Given the description of an element on the screen output the (x, y) to click on. 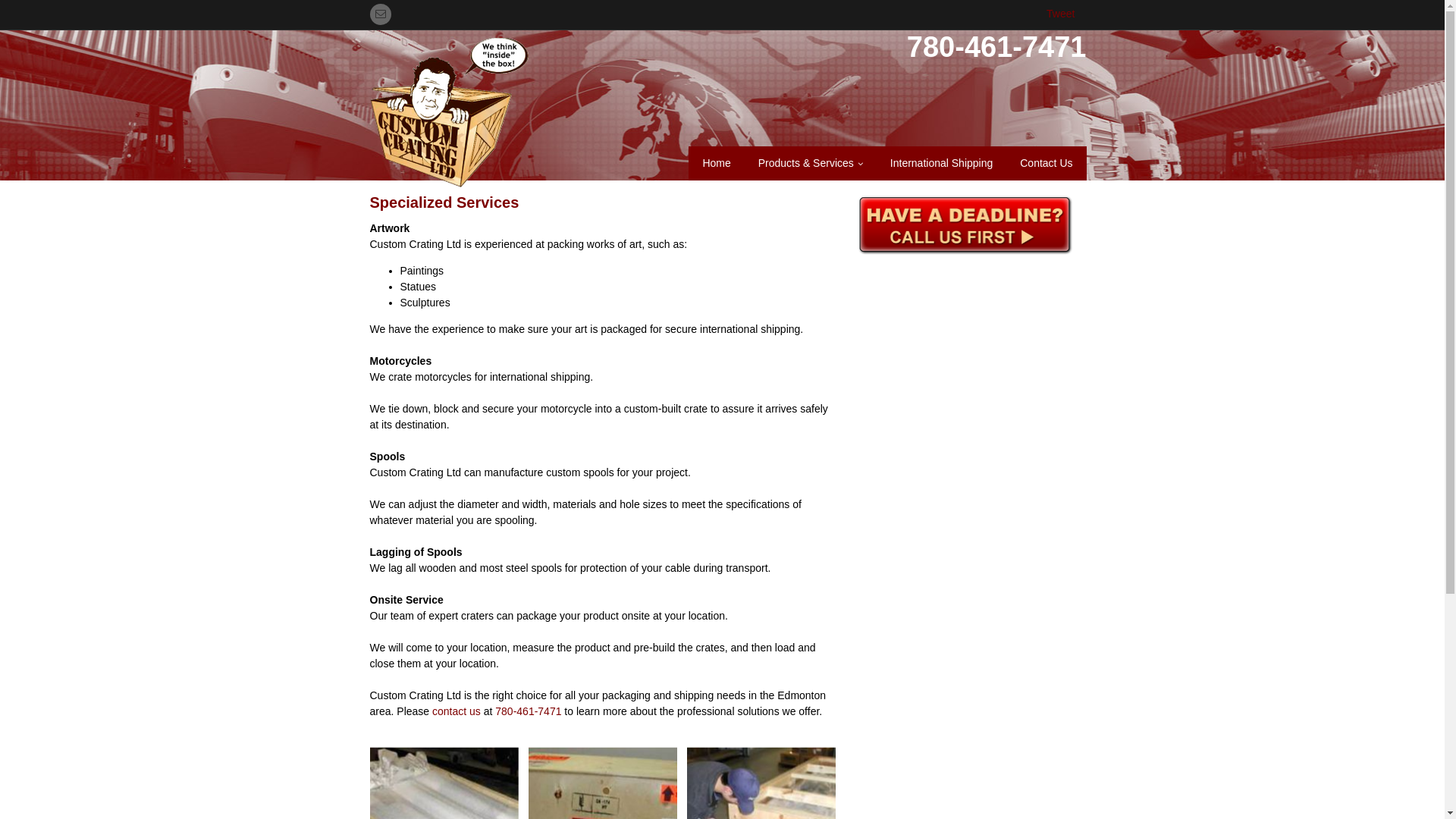
Tweet Element type: text (1060, 13)
780-461-7471 Element type: text (528, 711)
Products & Services Element type: text (810, 163)
Home Element type: text (715, 163)
International Shipping Element type: text (941, 163)
Contact Us Element type: text (1045, 163)
Go to Home page Element type: hover (449, 112)
780-461-7471 Element type: text (996, 46)
contact us Element type: text (456, 711)
